Given the description of an element on the screen output the (x, y) to click on. 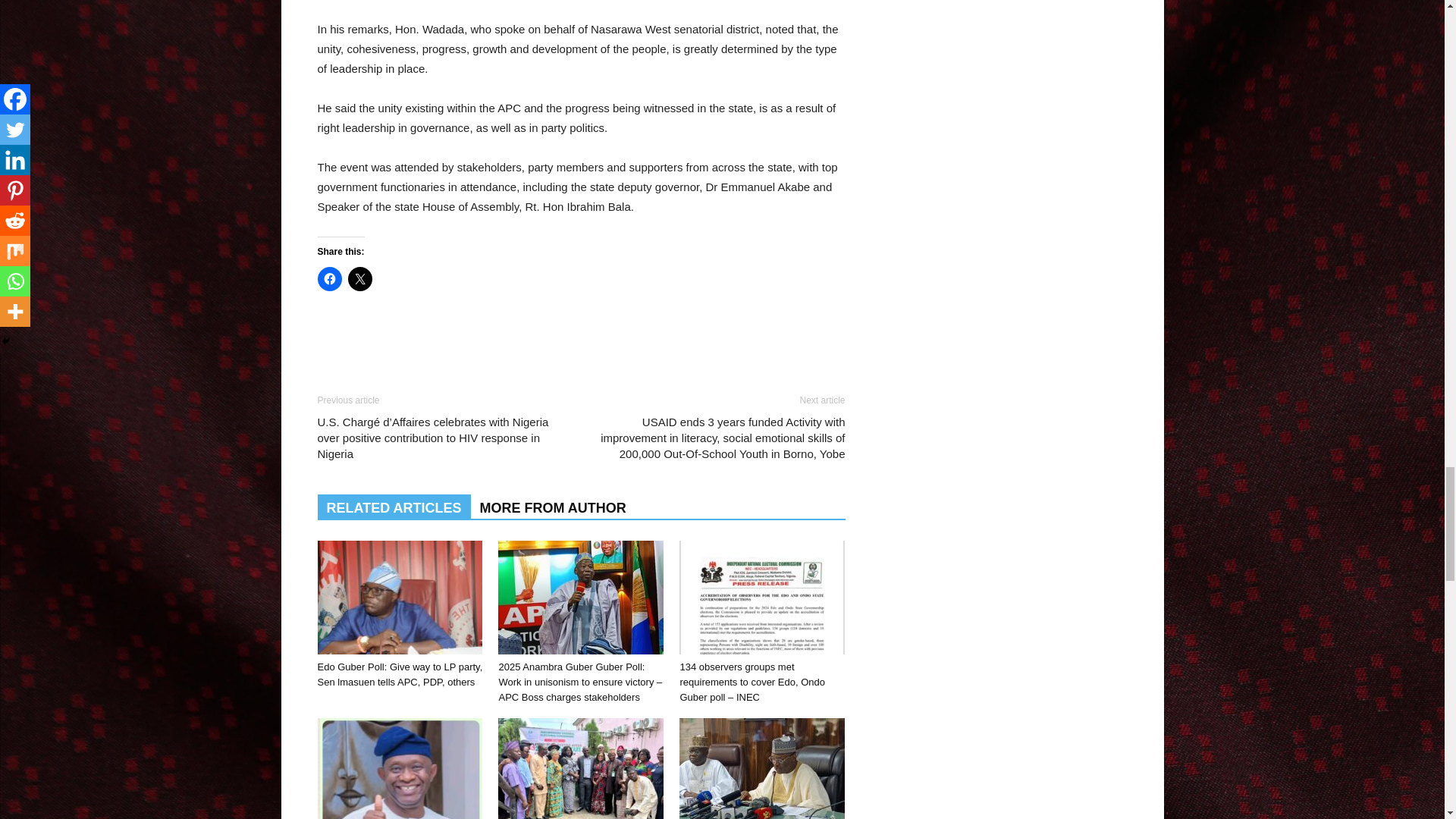
Click to share on Facebook (328, 278)
Click to share on X (359, 278)
